Given the description of an element on the screen output the (x, y) to click on. 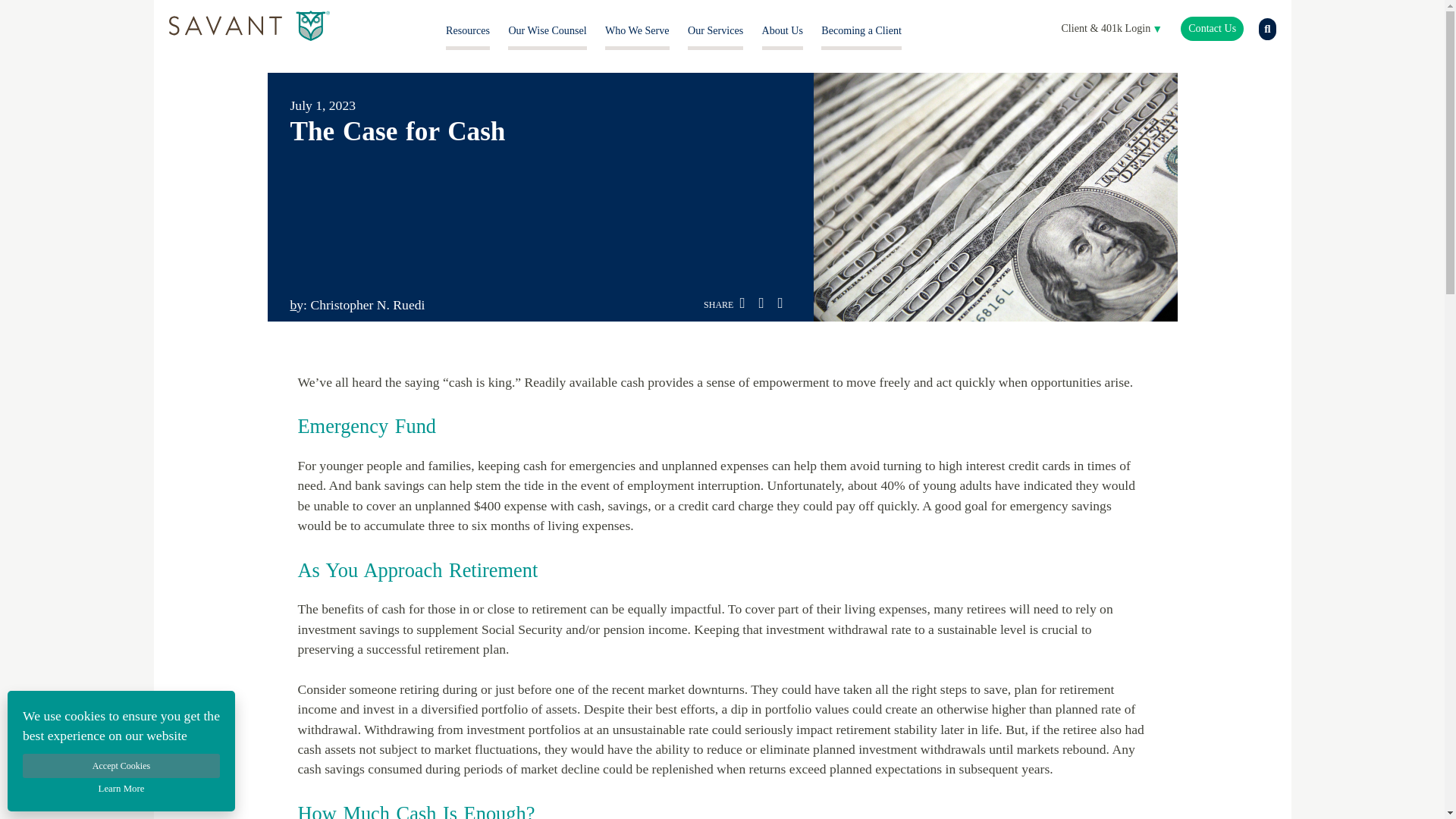
Who We Serve (637, 30)
Resources (467, 30)
Our Services (714, 30)
About Us (782, 30)
Our Wise Counsel (547, 30)
